Given the description of an element on the screen output the (x, y) to click on. 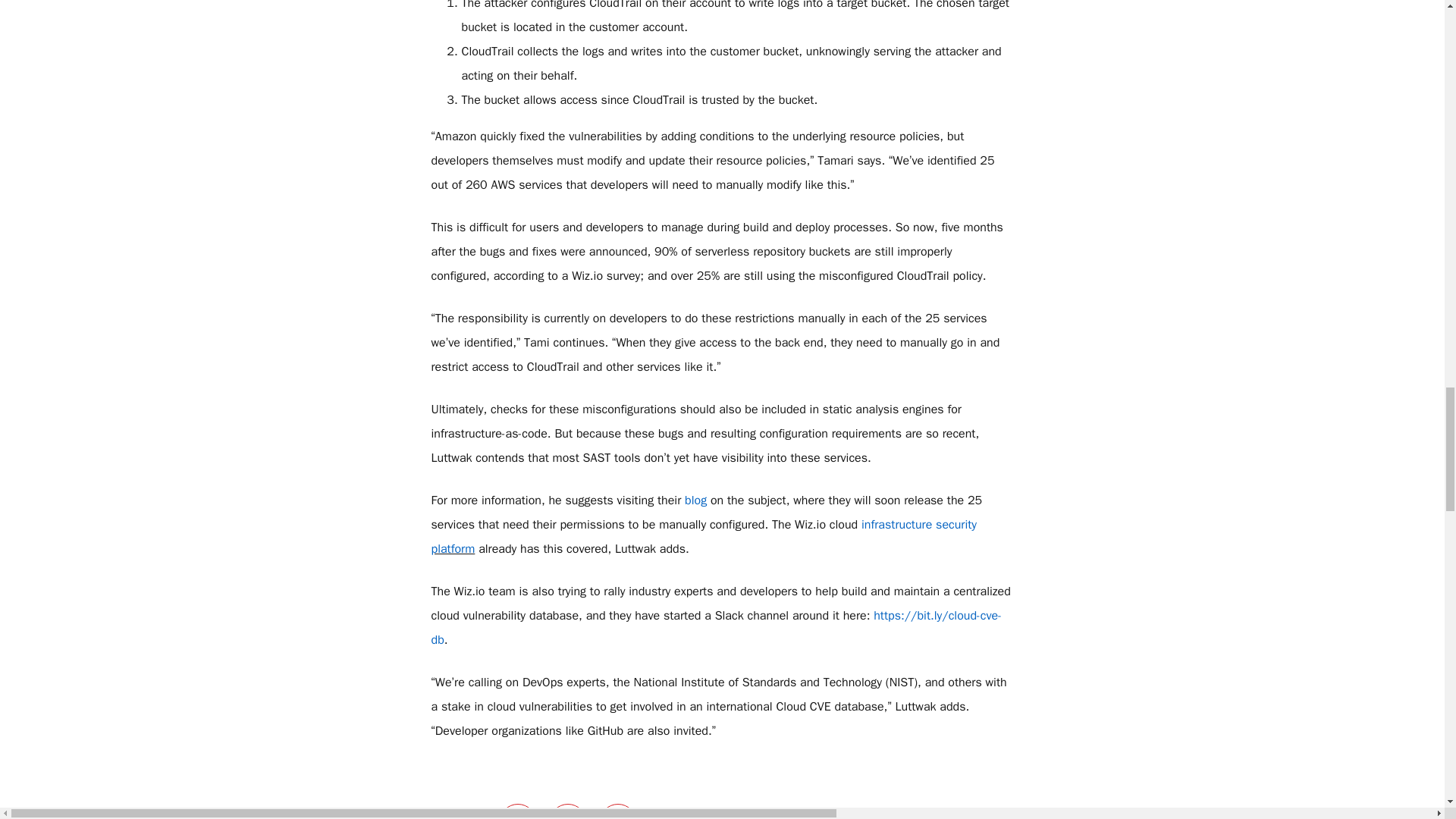
Facebook (617, 811)
blog (695, 500)
LinkedIn (567, 811)
Twitter (518, 811)
infrastructure security (918, 524)
